Given the description of an element on the screen output the (x, y) to click on. 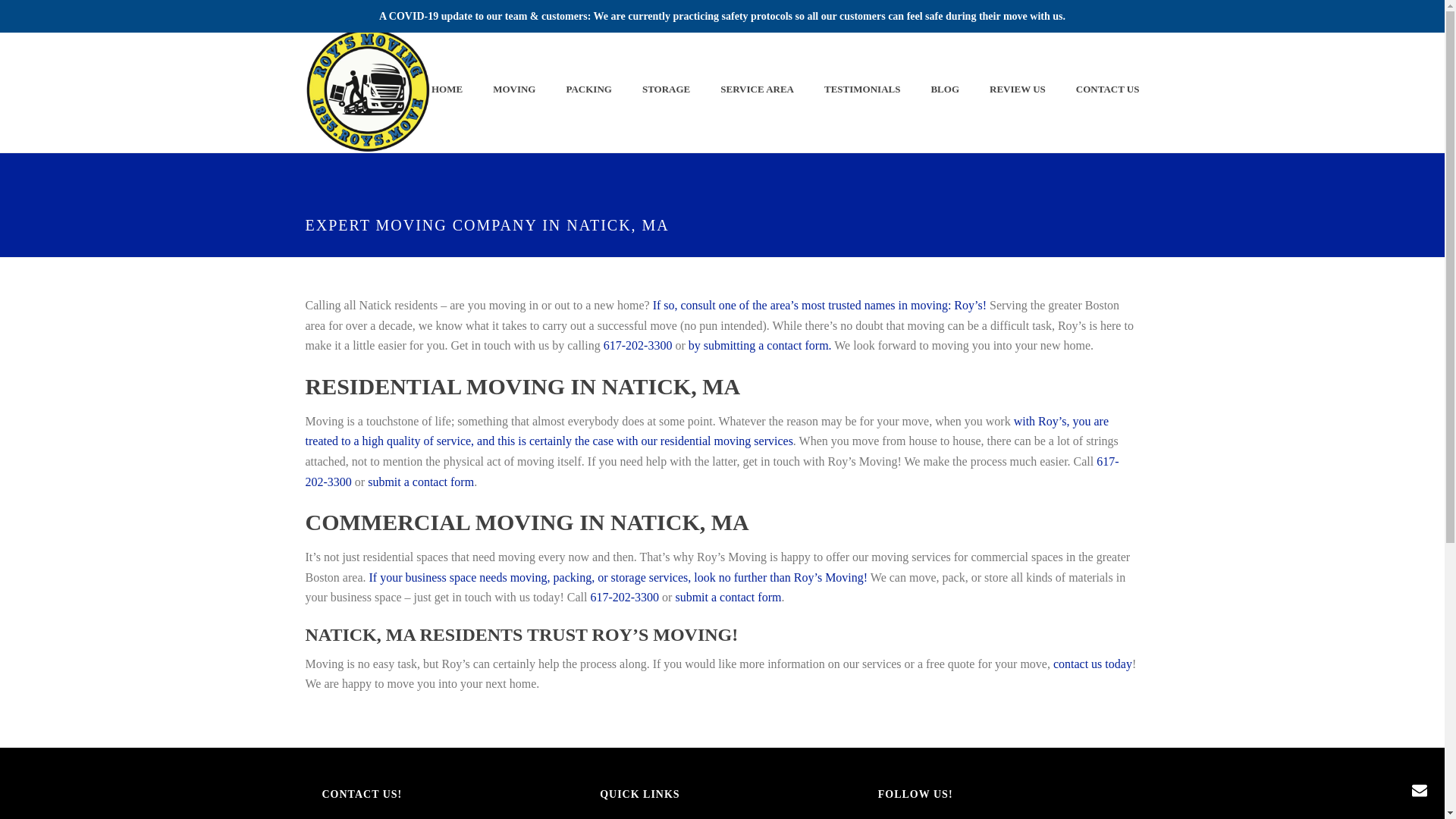
SERVICE AREA (756, 89)
TESTIMONIALS (862, 89)
HOME (446, 89)
MOVING (513, 89)
BLOG (944, 89)
HOME (446, 89)
by submitting a contact form. (759, 345)
BLOG (944, 89)
STORAGE (665, 89)
SERVICE AREA (756, 89)
